Given the description of an element on the screen output the (x, y) to click on. 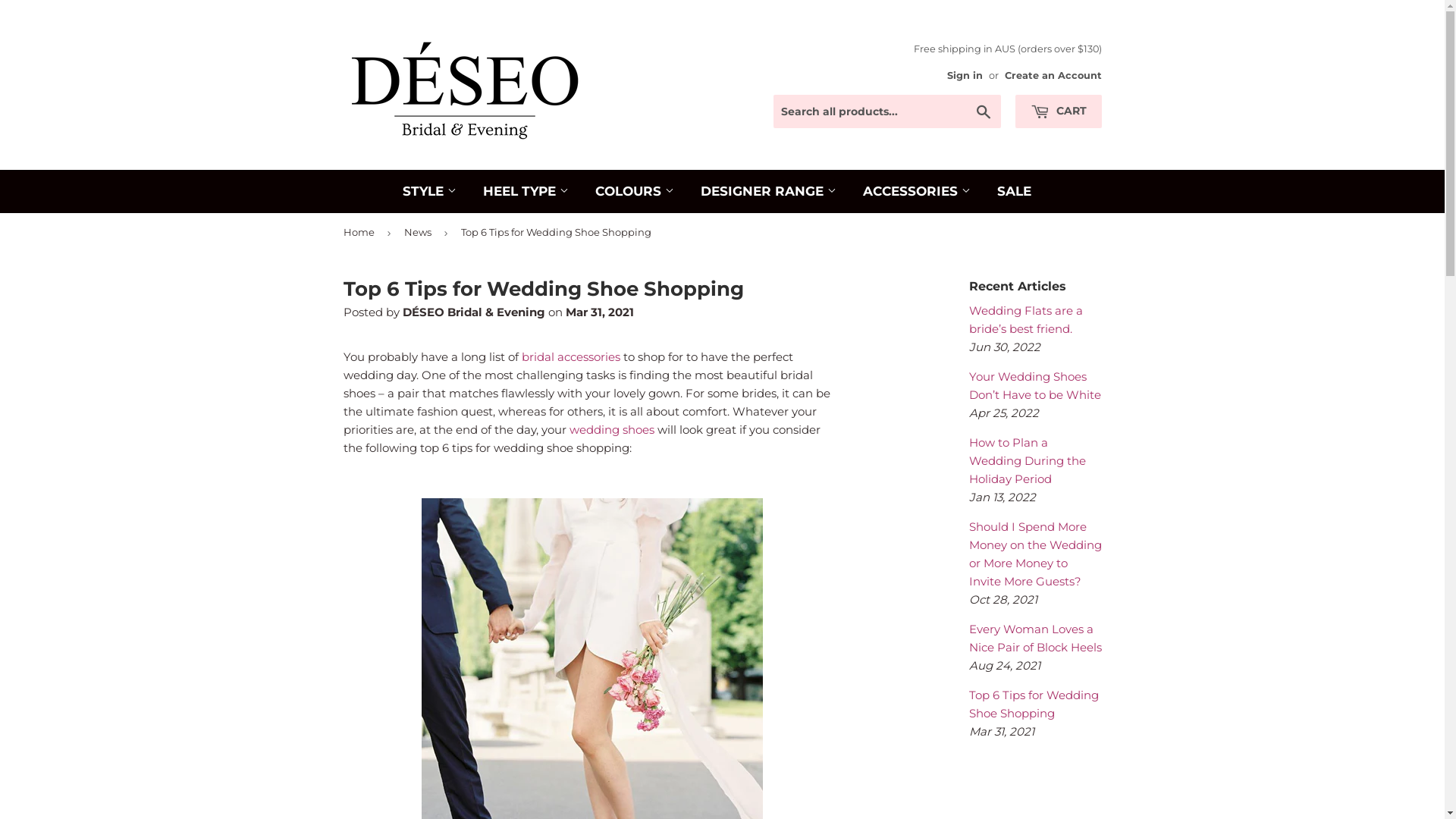
ACCESSORIES Element type: text (915, 191)
DESIGNER RANGE Element type: text (767, 191)
wedding shoes Element type: text (610, 429)
Every Woman Loves a Nice Pair of Block Heels Element type: text (1035, 637)
COLOURS Element type: text (634, 191)
How to Plan a Wedding During the Holiday Period Element type: text (1027, 460)
Search Element type: text (983, 112)
Home Element type: text (360, 232)
SALE Element type: text (1013, 191)
News Element type: text (419, 232)
bridal accessories Element type: text (570, 356)
HEEL TYPE Element type: text (525, 191)
Top 6 Tips for Wedding Shoe Shopping Element type: text (1033, 703)
STYLE Element type: text (429, 191)
CART Element type: text (1057, 111)
Create an Account Element type: text (1052, 75)
Sign in Element type: text (964, 75)
